Given the description of an element on the screen output the (x, y) to click on. 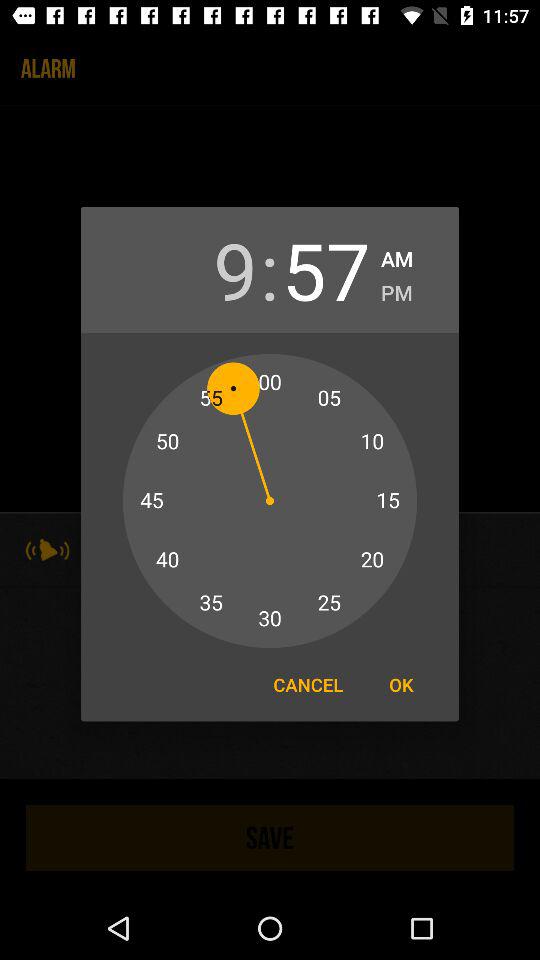
flip to the ok icon (401, 684)
